Given the description of an element on the screen output the (x, y) to click on. 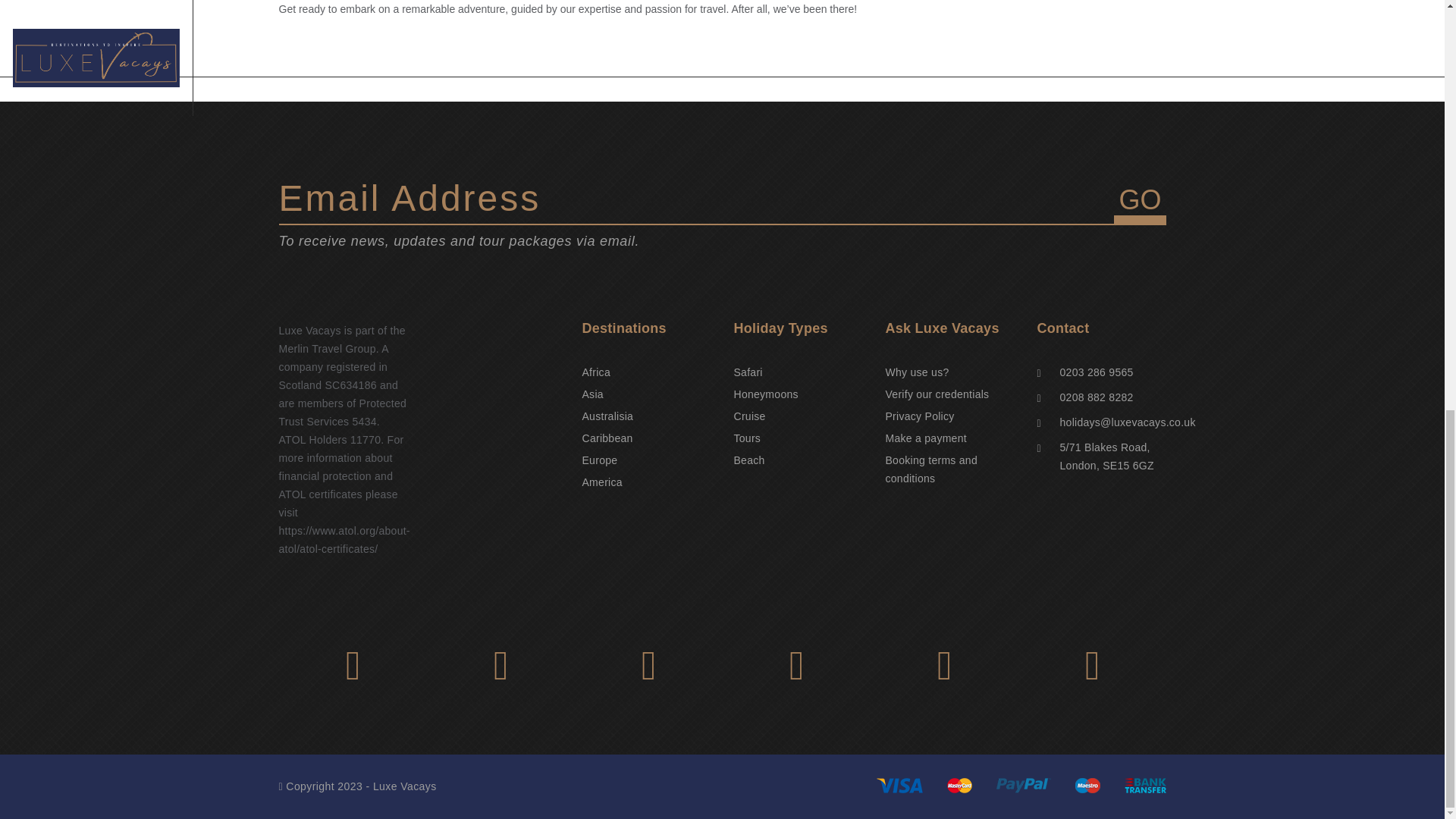
Caribbean (607, 438)
Asia (593, 394)
GO (1139, 204)
Destinations (646, 328)
Why use us? (917, 372)
Beach (749, 460)
Tours (747, 438)
Make a payment (925, 438)
0203 286 9565 (1096, 372)
Honeymoons (765, 394)
Cruise (749, 416)
Australisia (607, 416)
America (602, 481)
Africa (596, 372)
Safari (747, 372)
